Given the description of an element on the screen output the (x, y) to click on. 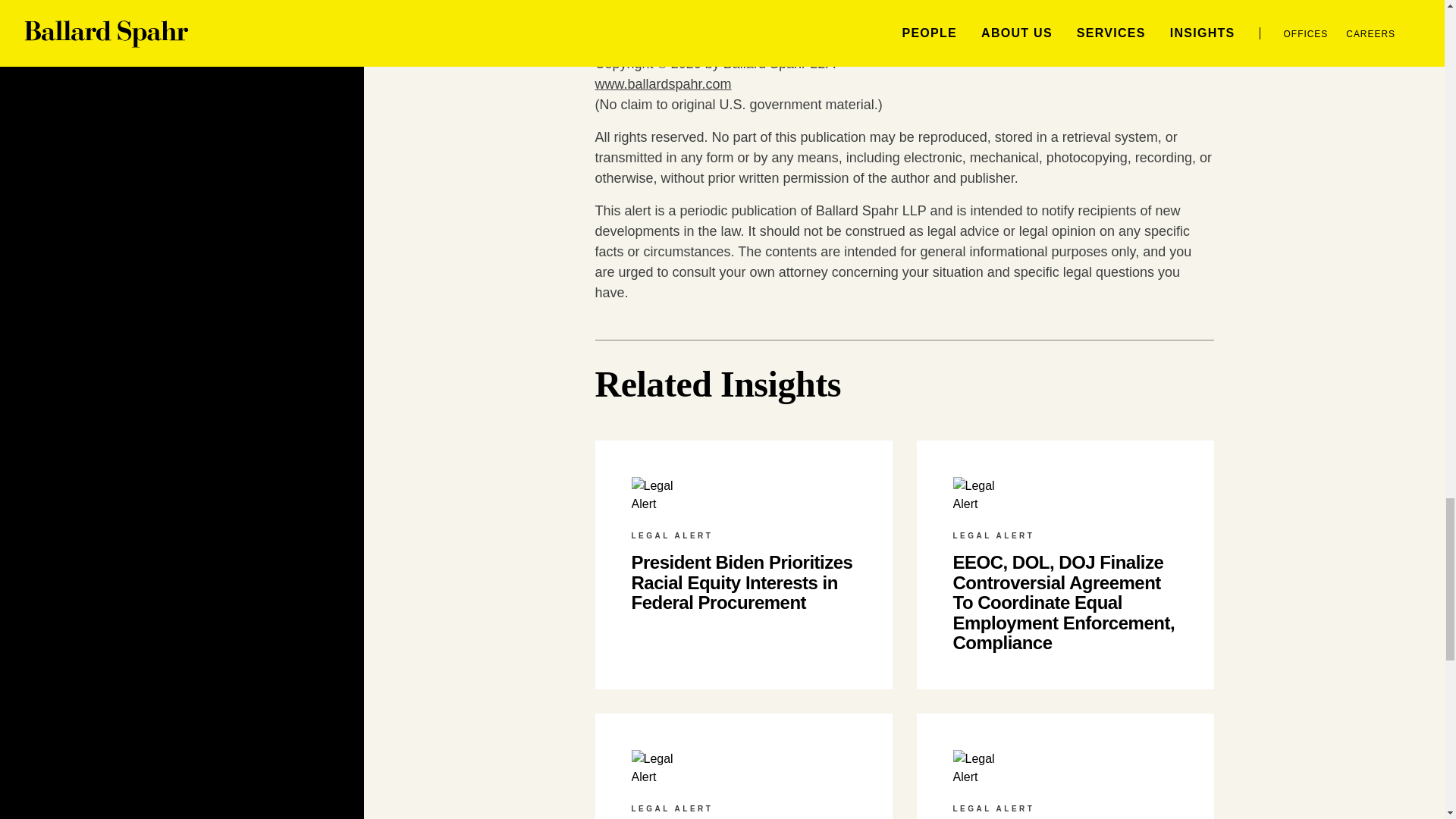
www.ballardspahr.com (662, 83)
